Given the description of an element on the screen output the (x, y) to click on. 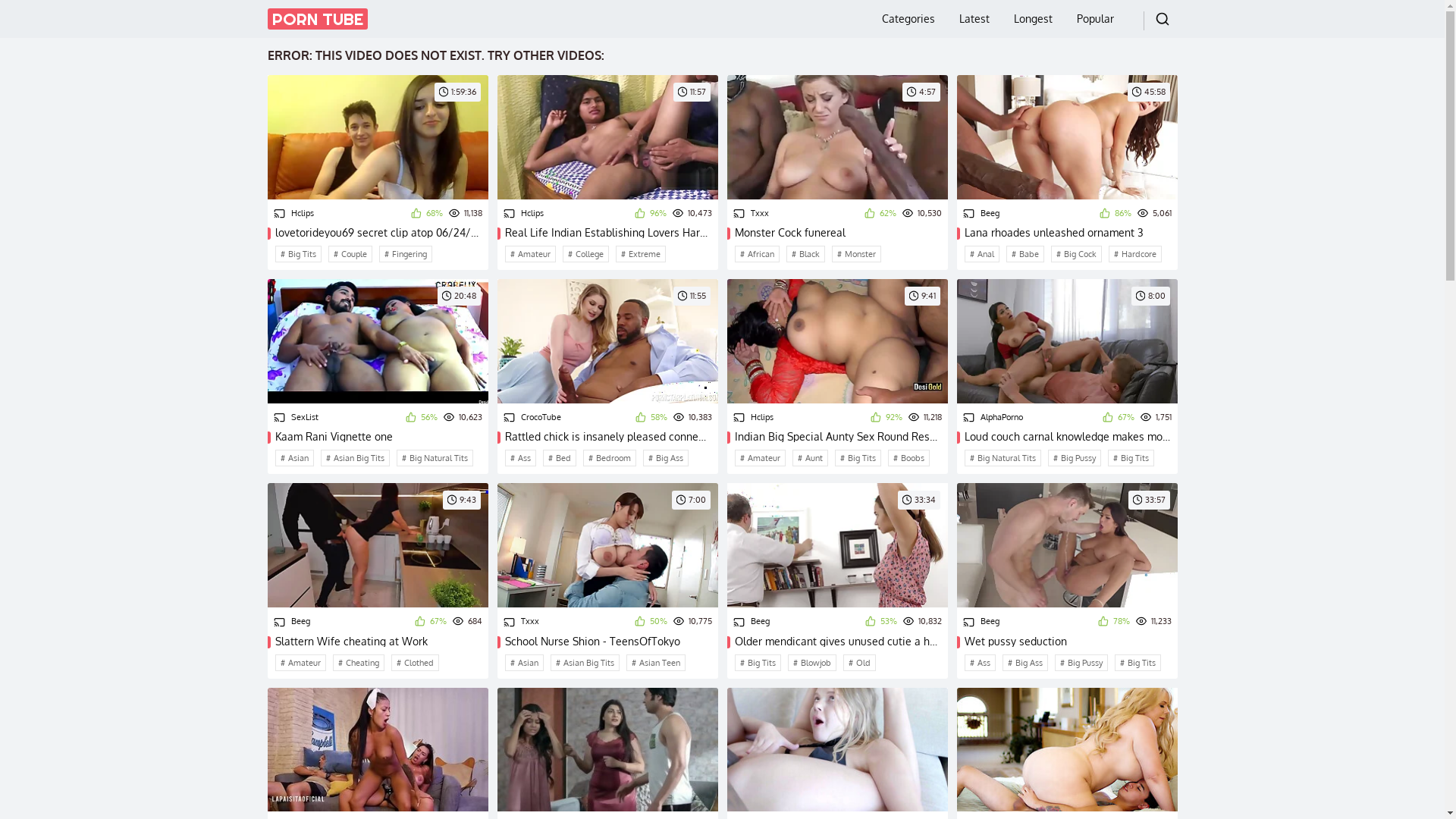
Longest Element type: text (1032, 18)
lovetorideyou69 secret clip atop 06/24/2015 from chaturbate Element type: text (377, 232)
Monster Cock funereal Element type: text (836, 232)
Amateur Element type: text (299, 662)
Categories Element type: text (907, 18)
Wet pussy seduction Element type: text (1067, 641)
School Nurse Shion - TeensOfTokyo Element type: text (607, 641)
Hclips Element type: text (293, 213)
Boobs Element type: text (907, 457)
Asian Teen Element type: text (655, 662)
Blowjob Element type: text (811, 662)
Beeg Element type: text (981, 621)
Big Tits Element type: text (857, 457)
Babe Element type: text (1024, 253)
Fingering Element type: text (405, 253)
Extreme Element type: text (640, 253)
Bed Element type: text (559, 457)
Kaam Rani Vignette one Element type: text (377, 436)
Hardcore Element type: text (1134, 253)
Beeg Element type: text (750, 621)
Ass Element type: text (520, 457)
Latest Element type: text (973, 18)
Amateur Element type: text (759, 457)
Big Tits Element type: text (1130, 457)
Clothed Element type: text (415, 662)
Hclips Element type: text (752, 417)
Big Natural Tits Element type: text (1002, 457)
SexList Element type: text (295, 417)
Big Cock Element type: text (1076, 253)
Big Pussy Element type: text (1080, 662)
Loud couch carnal knowledge makes mommy lose her mind Element type: text (1067, 436)
College Element type: text (585, 253)
Lana rhoades unleashed ornament 3 Element type: text (1067, 232)
Big Ass Element type: text (665, 457)
Asian Big Tits Element type: text (584, 662)
Asian Element type: text (293, 457)
Big Pussy Element type: text (1074, 457)
Beeg Element type: text (291, 621)
Indian Big Special Aunty Sex Round Resort Element type: text (836, 436)
Popular Element type: text (1095, 18)
Black Element type: text (804, 253)
Aunt Element type: text (809, 457)
Ass Element type: text (979, 662)
Beeg Element type: text (981, 213)
Big Tits Element type: text (757, 662)
Asian Big Tits Element type: text (354, 457)
Cheating Element type: text (357, 662)
Big Natural Tits Element type: text (433, 457)
Anal Element type: text (981, 253)
Old Element type: text (859, 662)
Amateur Element type: text (530, 253)
Monster Element type: text (855, 253)
Couple Element type: text (349, 253)
PORN TUBE Element type: text (316, 18)
African Element type: text (756, 253)
Hclips Element type: text (523, 213)
Asian Element type: text (524, 662)
AlphaPorno Element type: text (992, 417)
Slattern Wife cheating at Work Element type: text (377, 641)
CrocoTube Element type: text (532, 417)
Big Tits Element type: text (1137, 662)
Big Tits Element type: text (297, 253)
Txxx Element type: text (750, 213)
Txxx Element type: text (521, 621)
Big Ass Element type: text (1025, 662)
Bedroom Element type: text (608, 457)
